Given the description of an element on the screen output the (x, y) to click on. 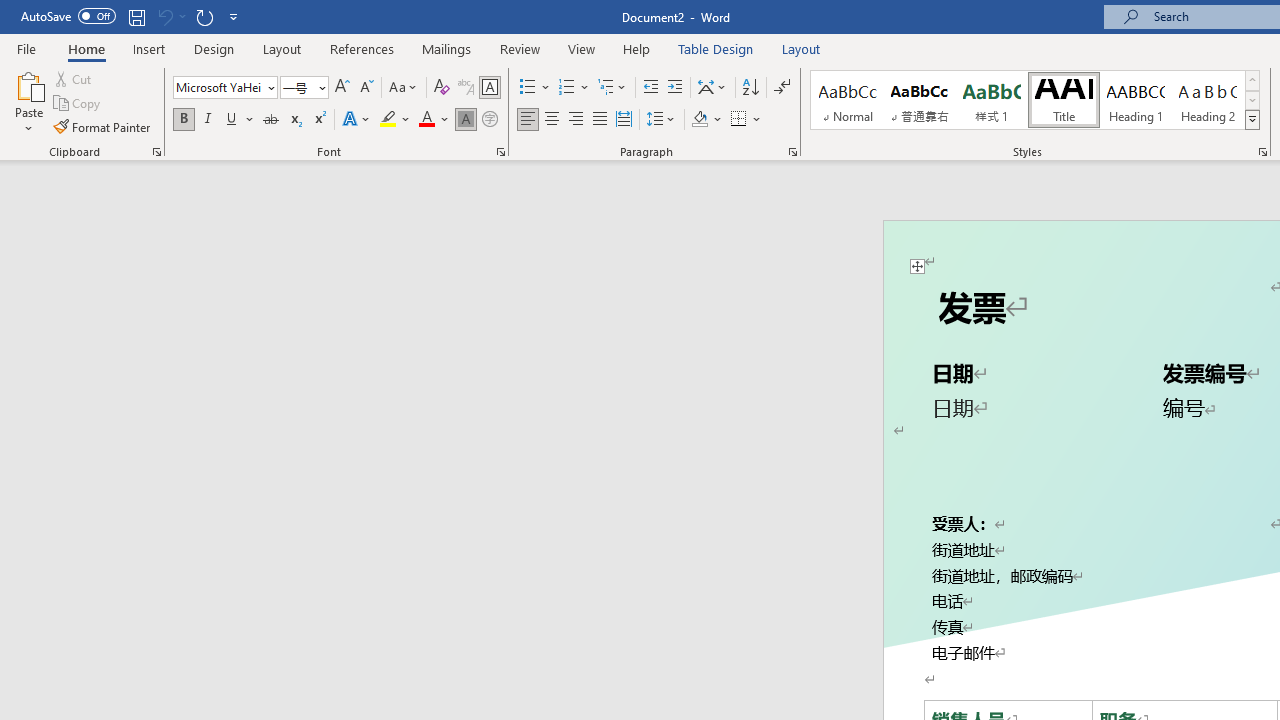
Show/Hide Editing Marks (781, 87)
AutomationID: QuickStylesGallery (1035, 99)
Superscript (319, 119)
More Options (757, 119)
Font Size (297, 87)
Increase Indent (675, 87)
Paste (28, 84)
Character Shading (465, 119)
Shading RGB(0, 0, 0) (699, 119)
Borders (739, 119)
Text Highlight Color Yellow (388, 119)
Text Effects and Typography (357, 119)
Insert (149, 48)
System (10, 11)
Underline (239, 119)
